Given the description of an element on the screen output the (x, y) to click on. 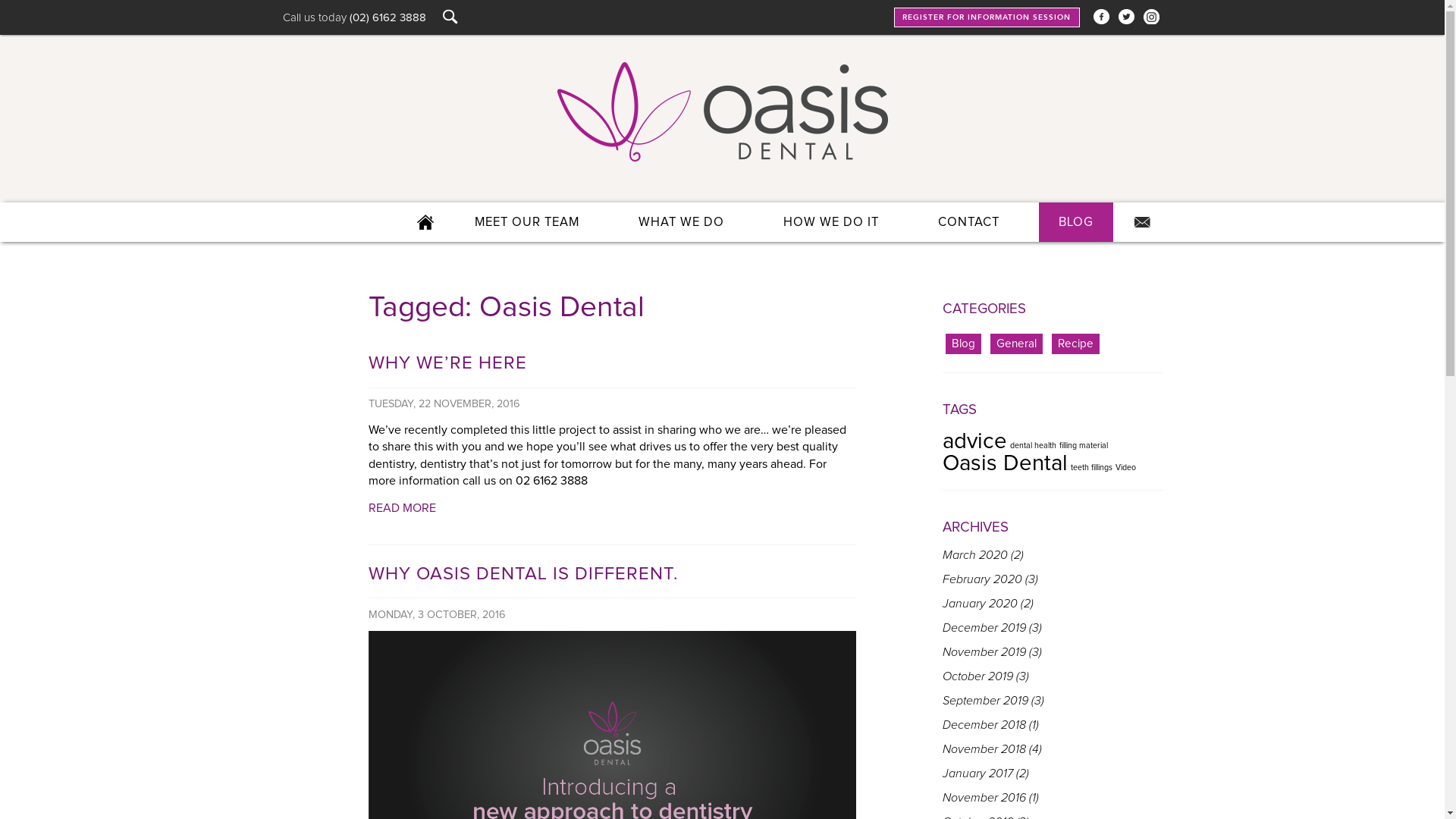
December 2019 Element type: text (983, 627)
Recipe Element type: text (1074, 343)
REGISTER FOR INFORMATION SESSION Element type: text (986, 17)
January 2017 Element type: text (976, 773)
READ MORE Element type: text (402, 508)
CONTACT Element type: text (967, 221)
advice Element type: text (973, 441)
Blog Element type: text (962, 343)
November 2019 Element type: text (983, 652)
February 2020 Element type: text (981, 579)
dental health Element type: text (1033, 445)
October 2019 Element type: text (976, 676)
November 2018 Element type: text (983, 749)
(02) 6162 3888 Element type: text (386, 17)
Search Element type: text (7, 7)
Oasis Dental Element type: hover (721, 111)
March 2020 Element type: text (974, 555)
WHY OASIS DENTAL IS DIFFERENT. Element type: text (612, 573)
September 2019 Element type: text (984, 700)
December 2018 Element type: text (983, 724)
Email contact Element type: hover (1142, 221)
Instagram Element type: hover (1151, 16)
HOW WE DO IT Element type: text (829, 221)
January 2020 Element type: text (978, 603)
General Element type: text (1016, 343)
MEET OUR TEAM Element type: text (527, 221)
Video Element type: text (1124, 467)
Oasis Dental Element type: text (1003, 463)
teeth fillings Element type: text (1091, 467)
Twitter Element type: hover (1125, 16)
Facebook Element type: hover (1101, 16)
filling material Element type: text (1082, 445)
WHAT WE DO Element type: text (680, 221)
BLOG Element type: text (1075, 221)
November 2016 Element type: text (983, 797)
